Given the description of an element on the screen output the (x, y) to click on. 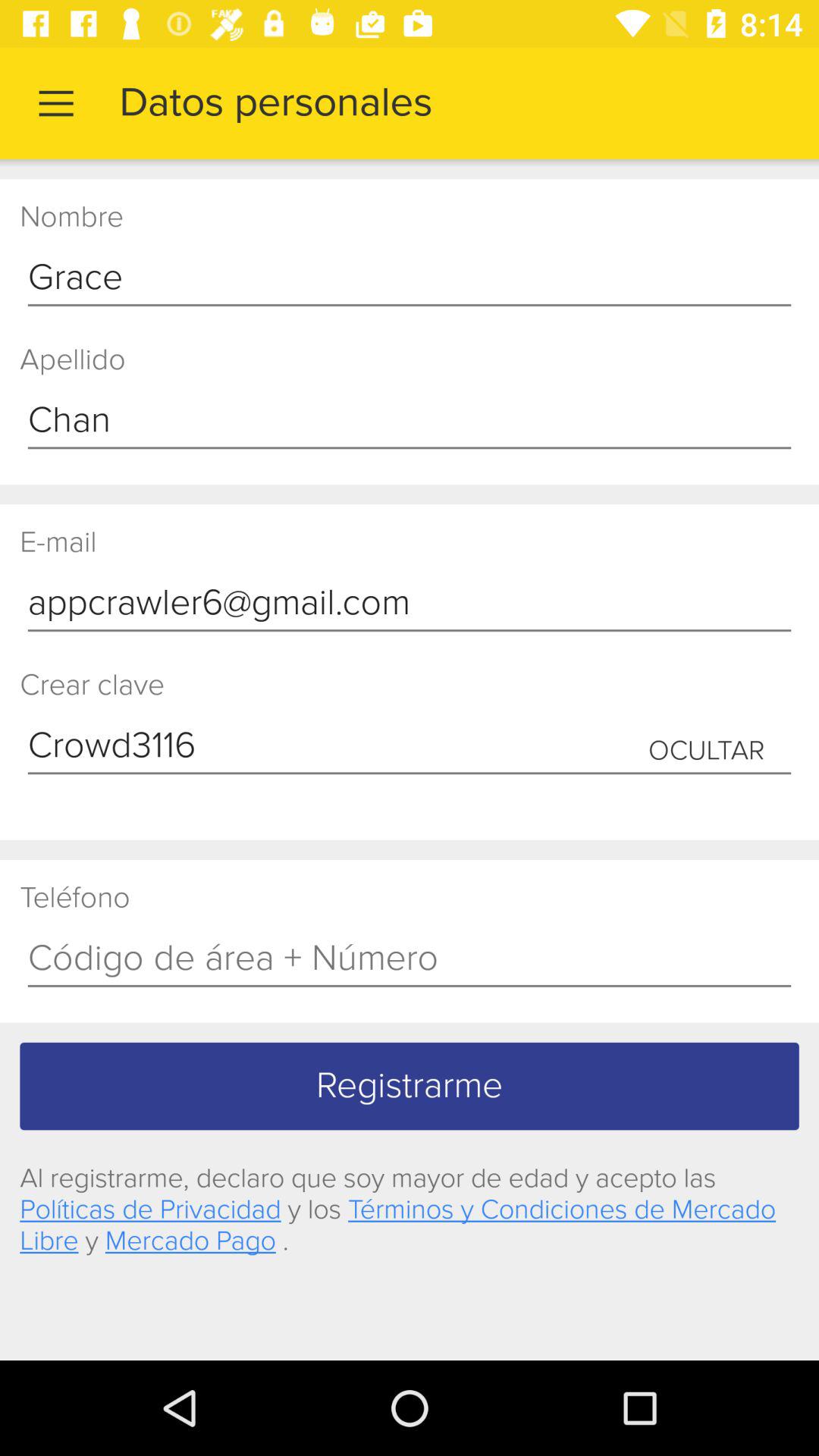
open icon to the right of the crear clave (706, 751)
